Given the description of an element on the screen output the (x, y) to click on. 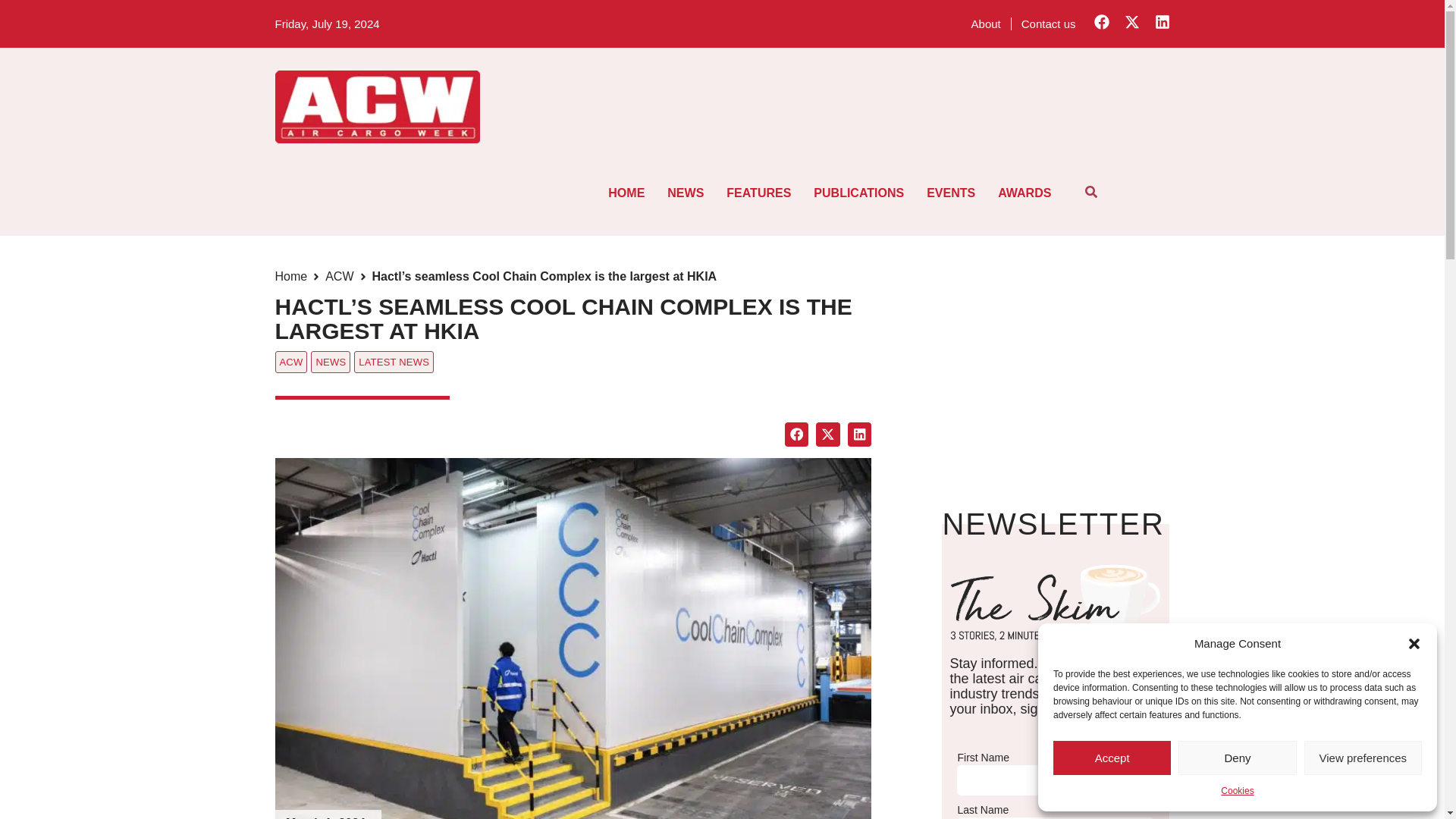
NEWS (330, 362)
Home (291, 276)
Deny (1236, 757)
ACW (338, 276)
About (985, 22)
Home (291, 276)
EVENTS (951, 193)
PUBLICATIONS (858, 193)
Contact us (1048, 22)
ACW (338, 276)
ACW (291, 362)
AWARDS (1024, 193)
HOME (626, 193)
LATEST NEWS (393, 362)
NEWS (685, 193)
